Given the description of an element on the screen output the (x, y) to click on. 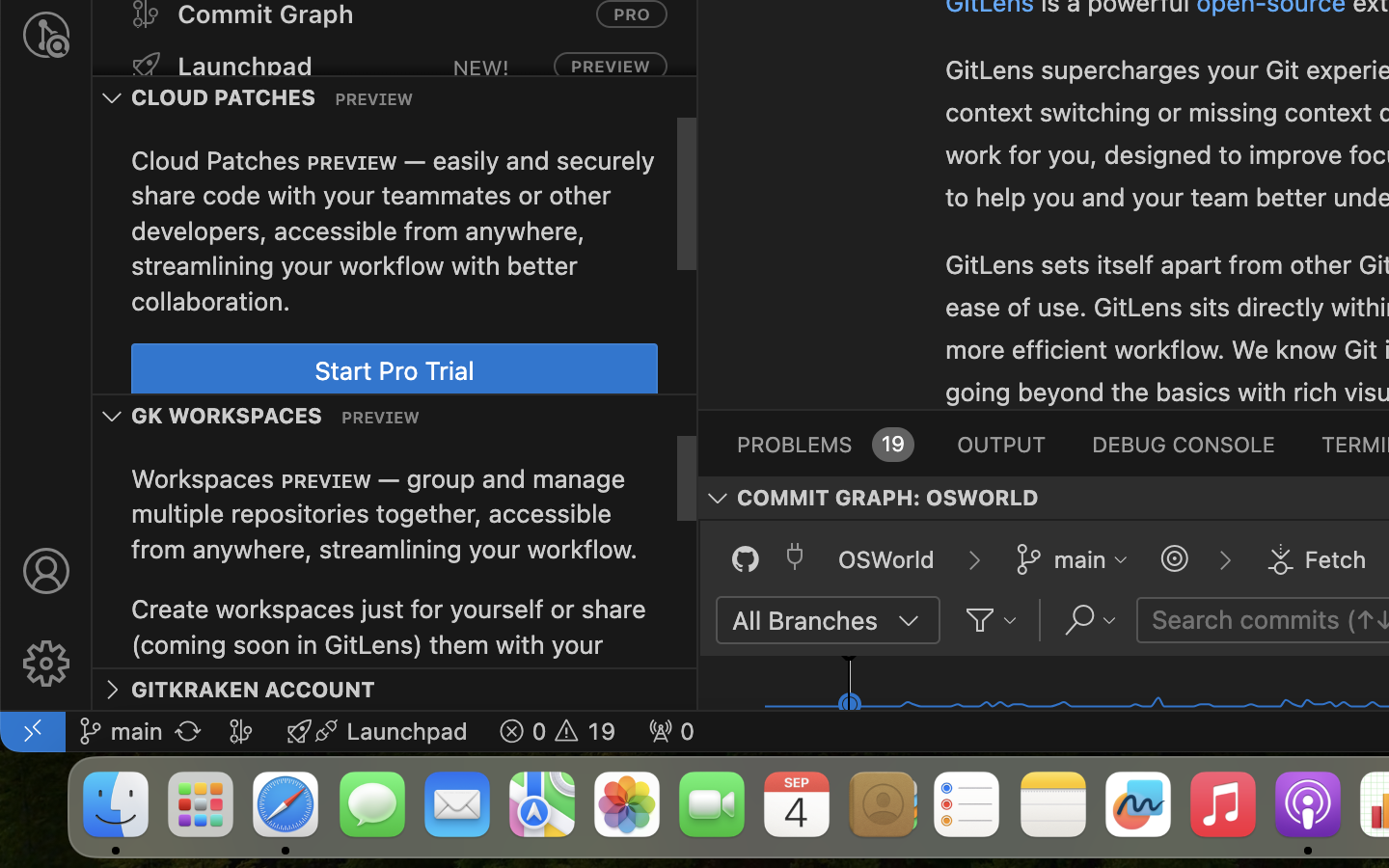
 Element type: AXStaticText (1174, 558)
Fetch Element type: AXStaticText (1335, 558)
Hello GitLens Element type: AXStaticText (978, 305)
Want more control? Element type: AXStaticText (858, 51)
File Annotations Element type: AXStaticText (855, 154)
